Given the description of an element on the screen output the (x, y) to click on. 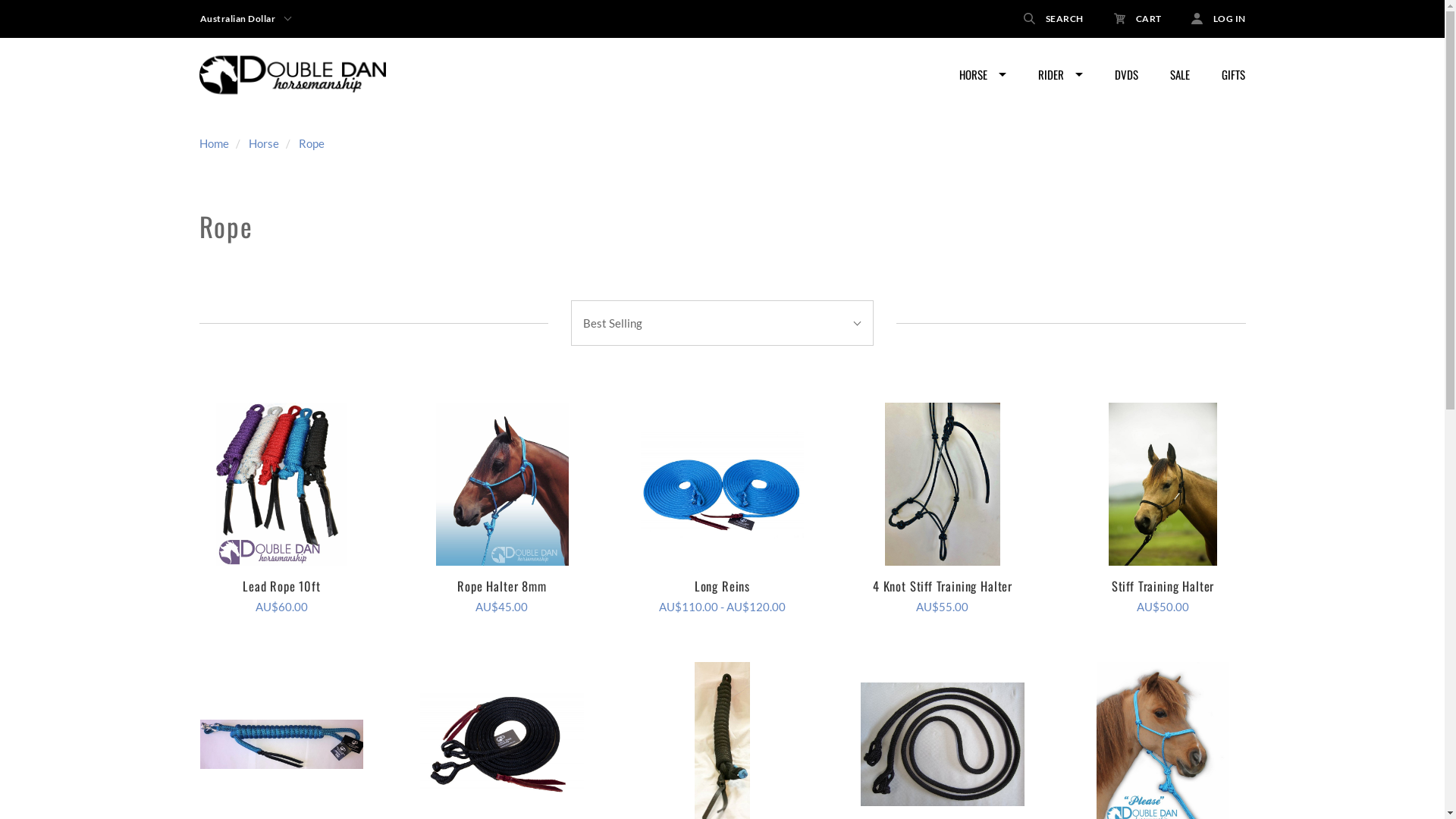
Lead Rope 10ft Element type: hover (281, 483)
RIDER Element type: text (1060, 74)
Stiff Training Halter Element type: text (1162, 585)
GIFTS Element type: text (1233, 74)
Long Reins Element type: text (721, 585)
SEARCH Element type: text (1053, 18)
Stiff Training Halter Element type: hover (1162, 483)
Rope Halter 8mm Element type: hover (501, 483)
Lead Rope 10ft Element type: text (281, 585)
Rope Halter 8mm Element type: text (501, 585)
Home Element type: text (213, 143)
HORSE Element type: text (982, 74)
DVDS Element type: text (1125, 74)
LOG IN Element type: text (1210, 18)
4 Knot Stiff Training Halter Element type: hover (941, 483)
Long Reins  Element type: hover (721, 483)
Rope Element type: text (311, 143)
4 Knot Stiff Training Halter Element type: text (942, 585)
CART Element type: text (1137, 18)
SALE Element type: text (1179, 74)
Horse Element type: text (263, 143)
